Given the description of an element on the screen output the (x, y) to click on. 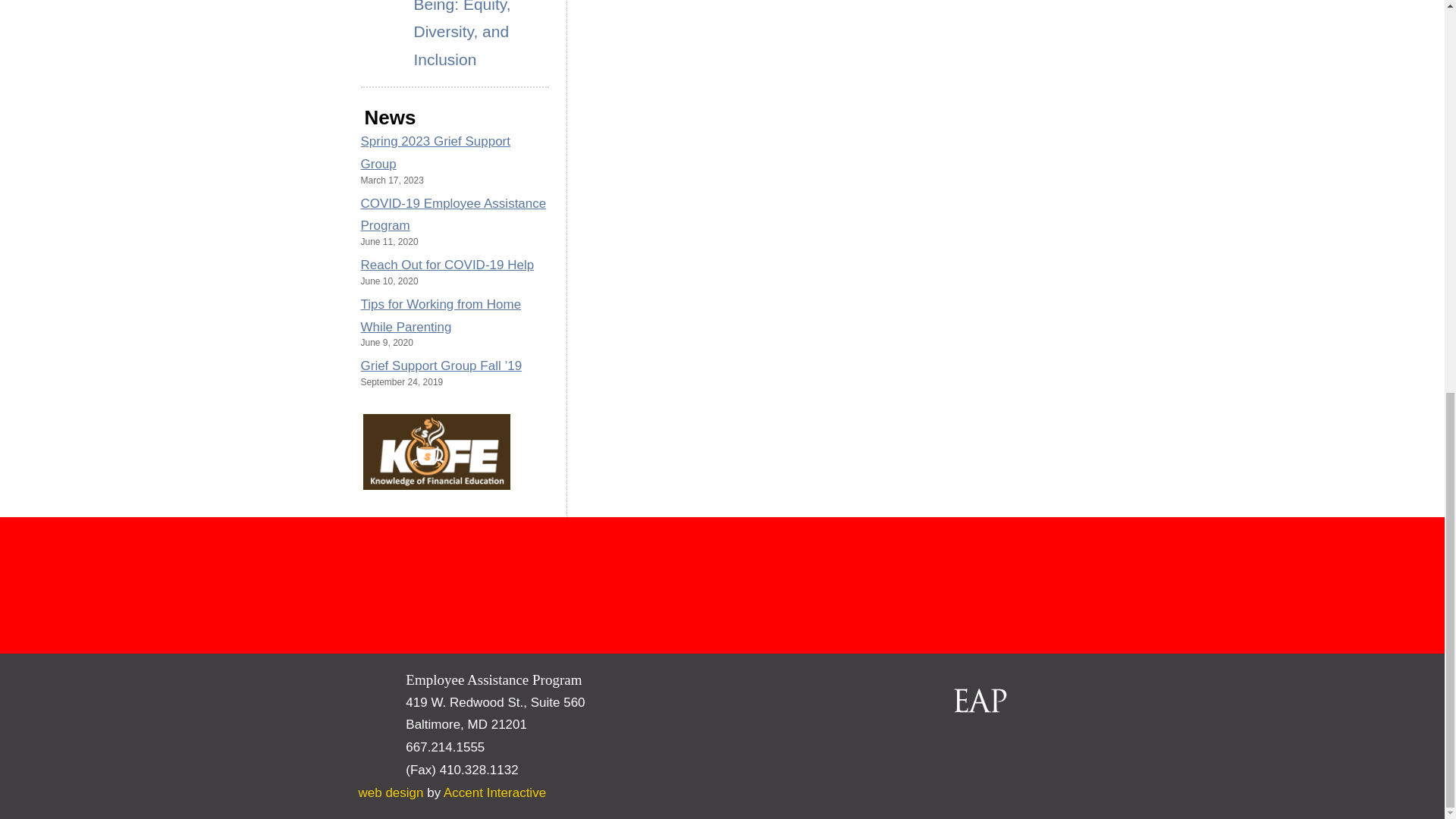
web design (390, 792)
Tips for Working from Home While Parenting (441, 315)
Accent Interactive (495, 792)
COVID-19 Employee Assistance Program (454, 214)
Reach Out for COVID-19 Help (447, 264)
Spring 2023 Grief Support Group (436, 152)
